Given the description of an element on the screen output the (x, y) to click on. 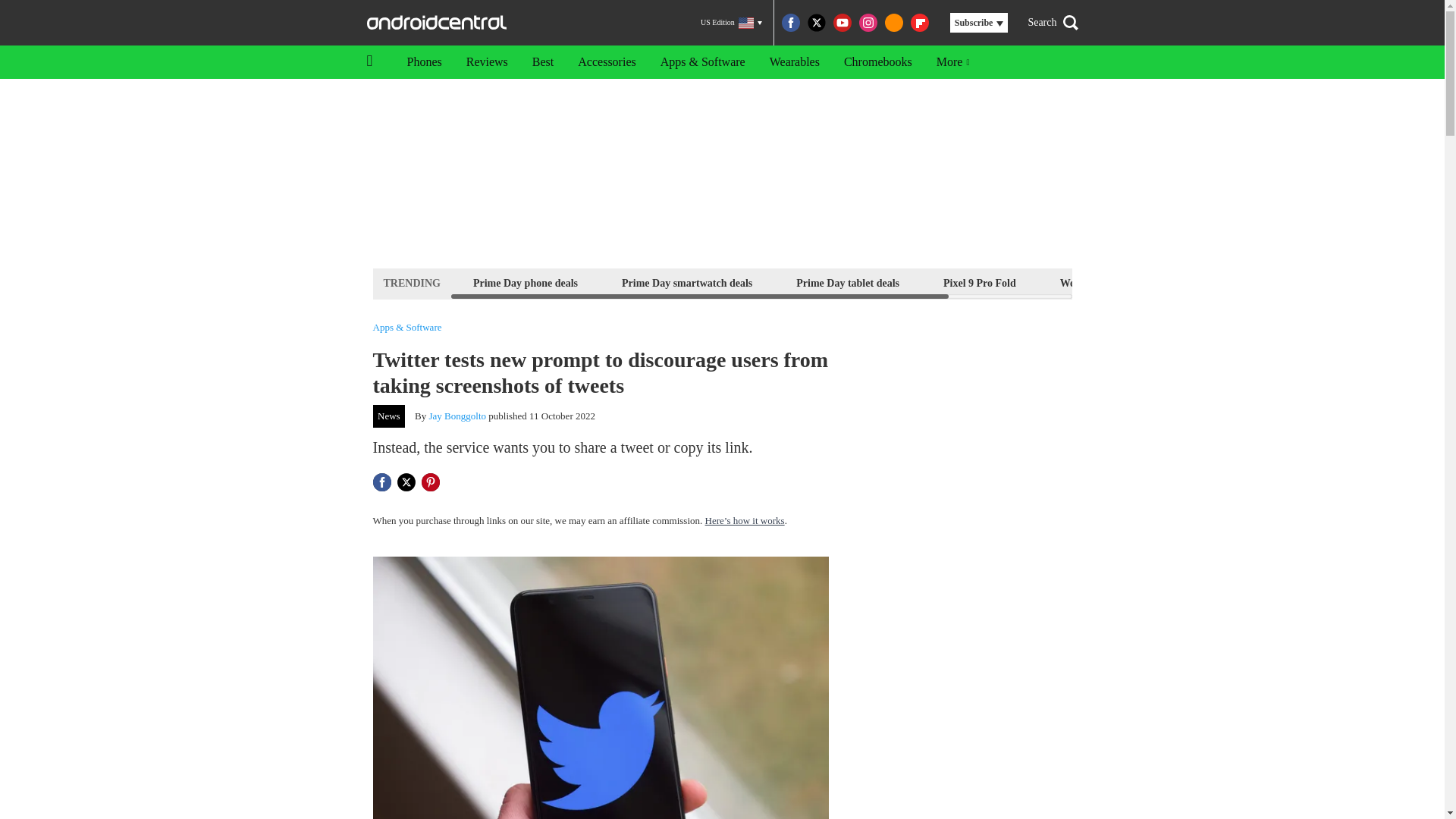
Wear OS 5 (1084, 282)
Best (542, 61)
Phones (423, 61)
News (389, 415)
Accessories (606, 61)
US Edition (731, 22)
Chromebooks (877, 61)
Jay Bonggolto (457, 415)
Android 15 (1178, 282)
Reviews (486, 61)
Prime Day smartwatch deals (686, 282)
Pixel 9 Pro Fold (979, 282)
Prime Day phone deals (525, 282)
Prime Day tablet deals (847, 282)
Wearables (794, 61)
